Given the description of an element on the screen output the (x, y) to click on. 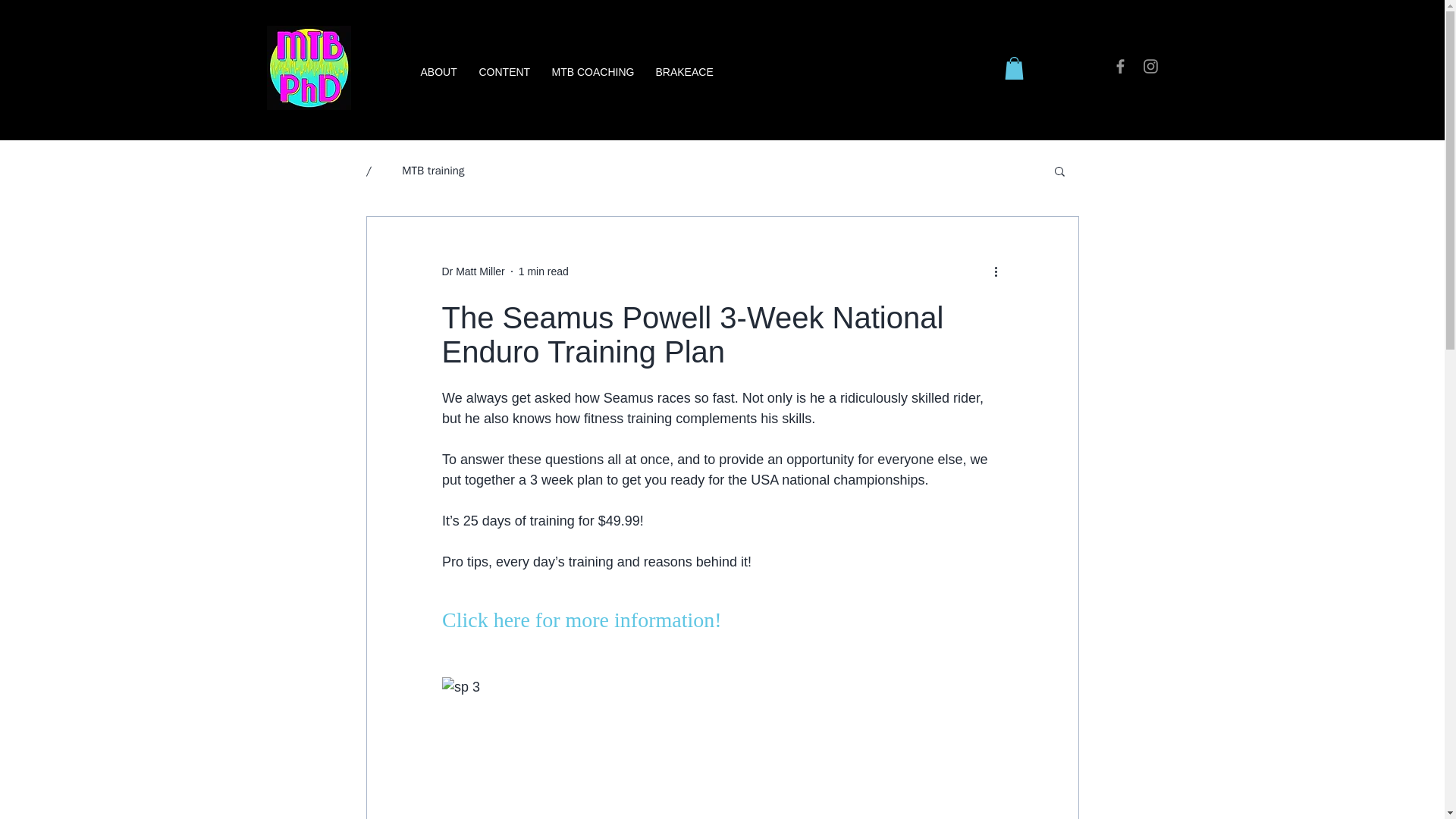
MTB training (432, 170)
1 min read (543, 271)
Click here for more information! (580, 619)
MTB COACHING (591, 72)
Dr Matt Miller (472, 271)
ABOUT (438, 72)
BRAKEACE (682, 72)
Dr Matt Miller (472, 271)
